Given the description of an element on the screen output the (x, y) to click on. 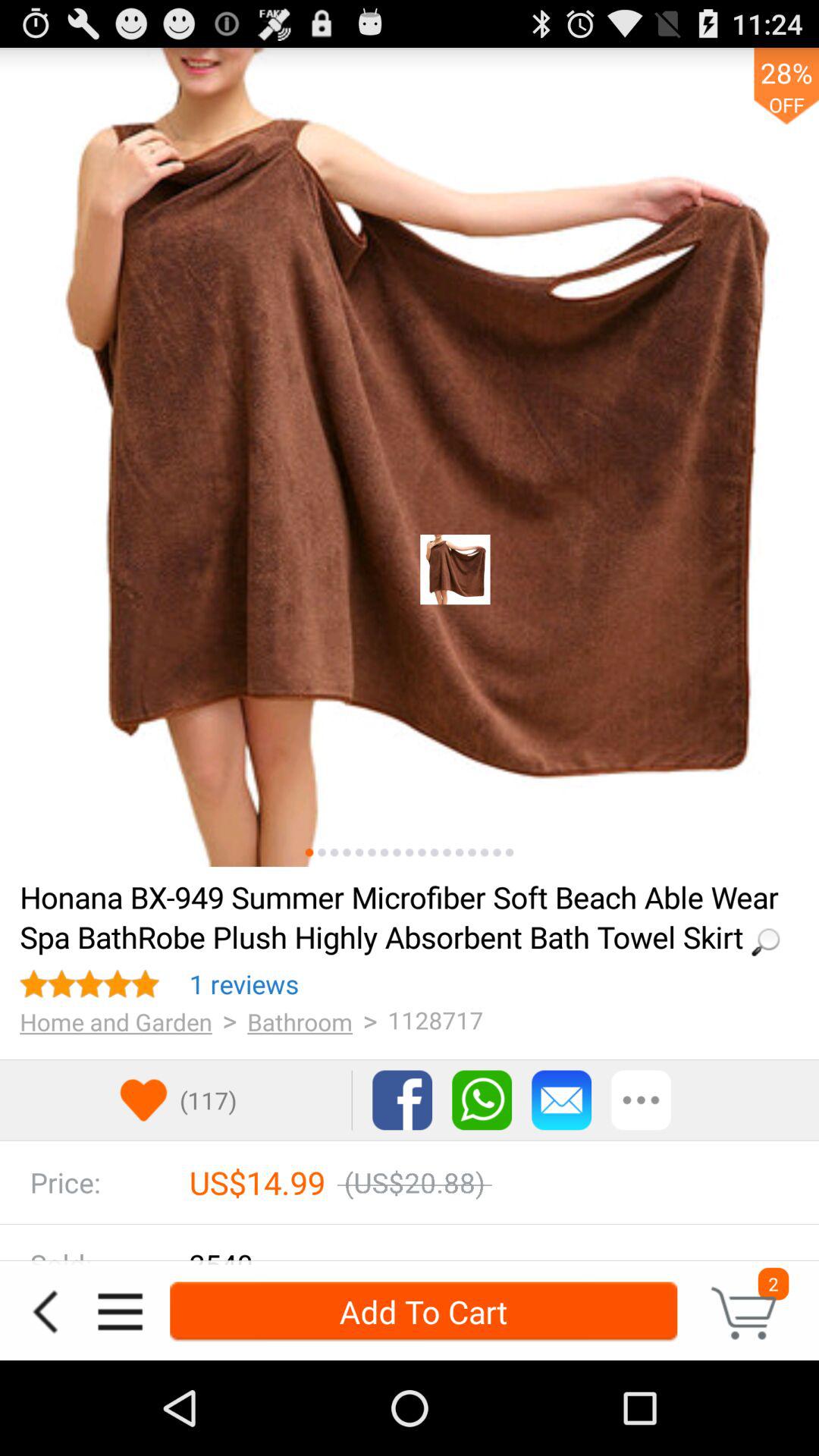
press the icon to the left of > app (299, 1021)
